Given the description of an element on the screen output the (x, y) to click on. 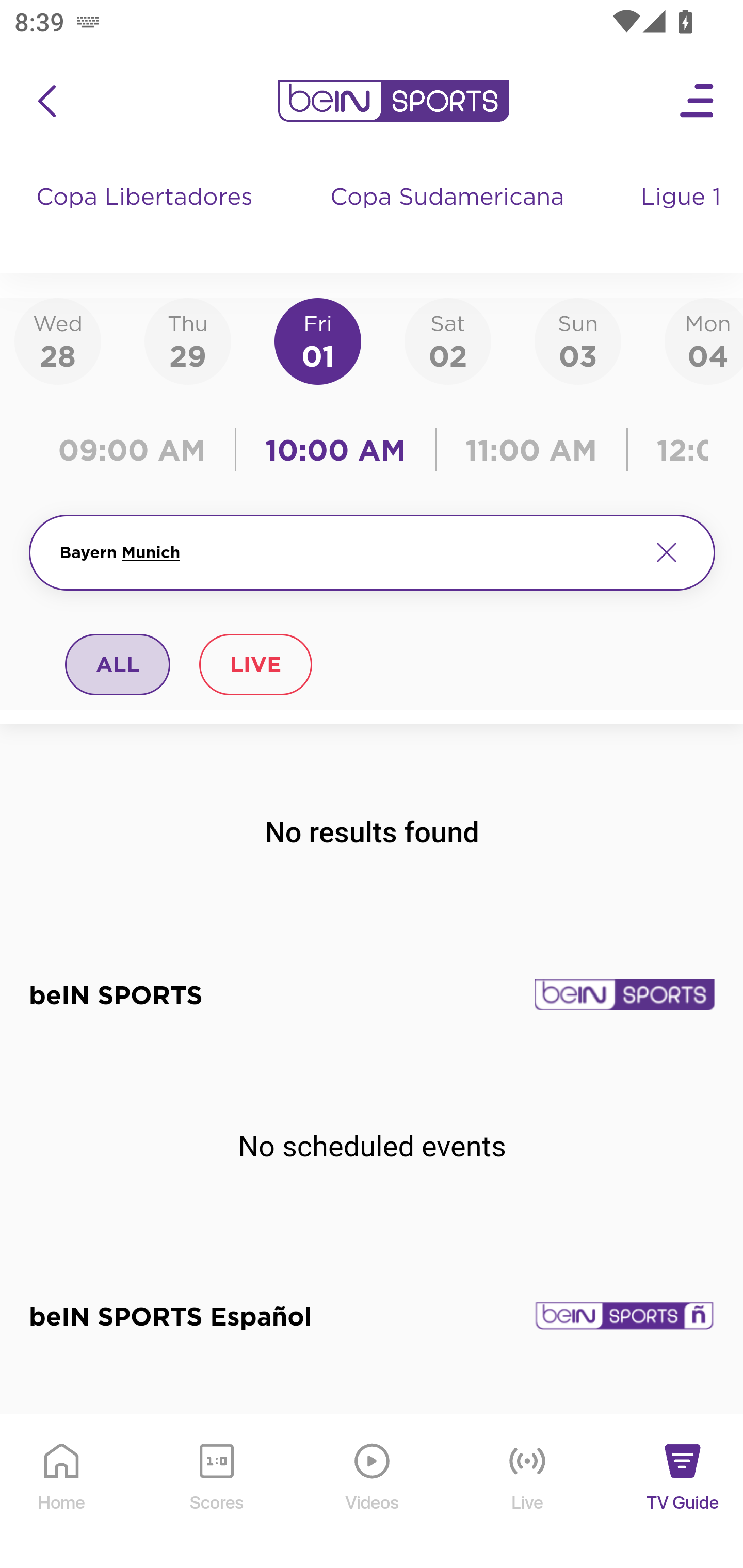
en-us?platform=mobile_android bein logo (392, 101)
icon back (46, 101)
Open Menu Icon (697, 101)
Copa Libertadores (146, 216)
Copa Sudamericana (448, 216)
Ligue 1 (682, 216)
Wed28 (58, 340)
Thu29 (187, 340)
Fri01 (318, 340)
Sat02 (447, 340)
Sun03 (578, 340)
Mon04 (703, 340)
09:00 AM (136, 449)
10:00 AM (335, 449)
11:00 AM (531, 449)
Bayern Munich (346, 552)
ALL (118, 663)
LIVE (255, 663)
Home Home Icon Home (61, 1491)
Scores Scores Icon Scores (216, 1491)
Videos Videos Icon Videos (372, 1491)
TV Guide TV Guide Icon TV Guide (682, 1491)
